Given the description of an element on the screen output the (x, y) to click on. 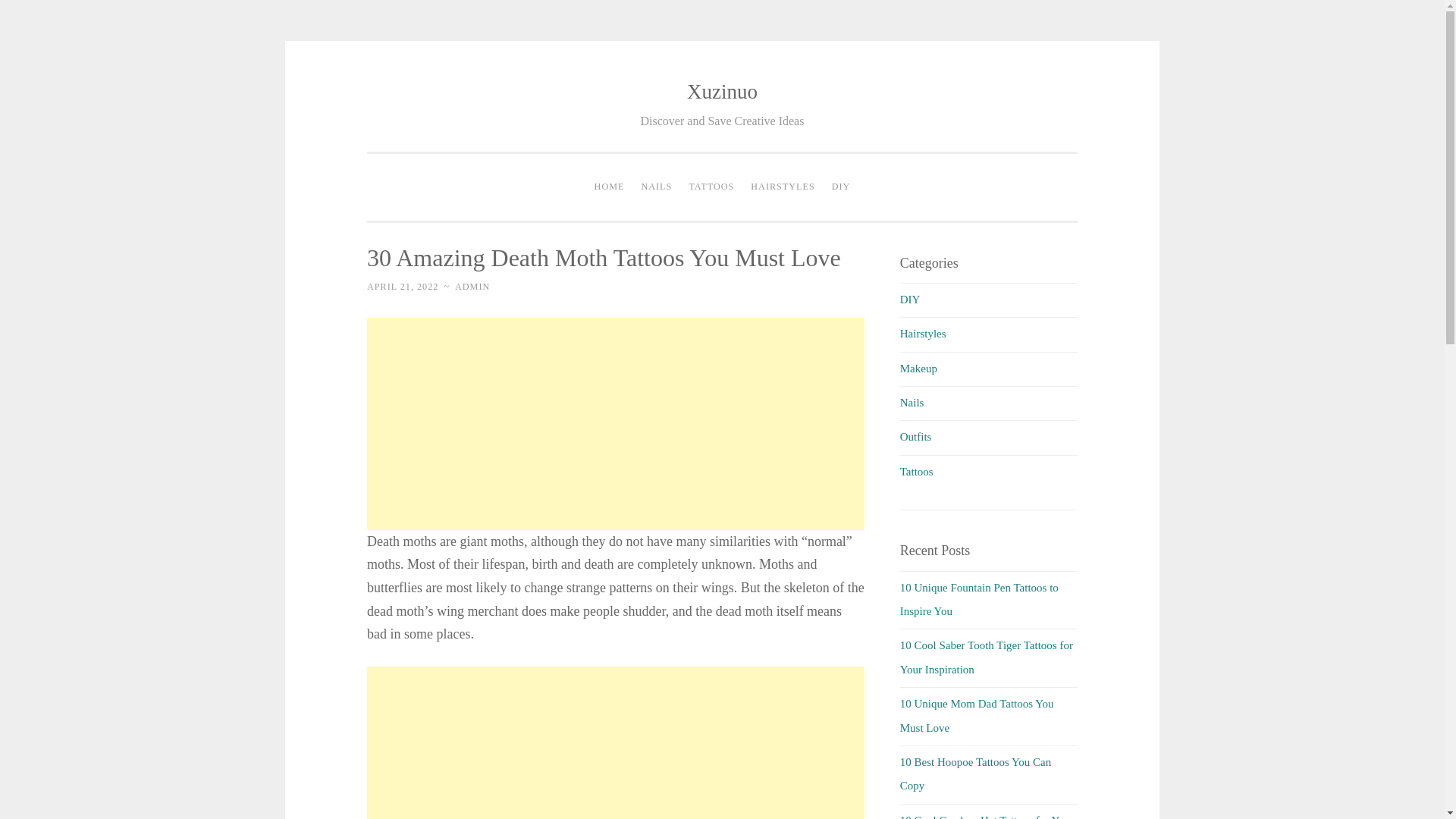
TATTOOS (711, 186)
10 Cool Cowboy Hat Tattoos for Your Inspiration (986, 816)
Advertisement (615, 742)
10 Cool Saber Tooth Tiger Tattoos for Your Inspiration (986, 656)
nails (911, 402)
APRIL 21, 2022 (402, 286)
DIY (841, 186)
Skip to content (400, 91)
ADMIN (471, 286)
HOME (609, 186)
